Given the description of an element on the screen output the (x, y) to click on. 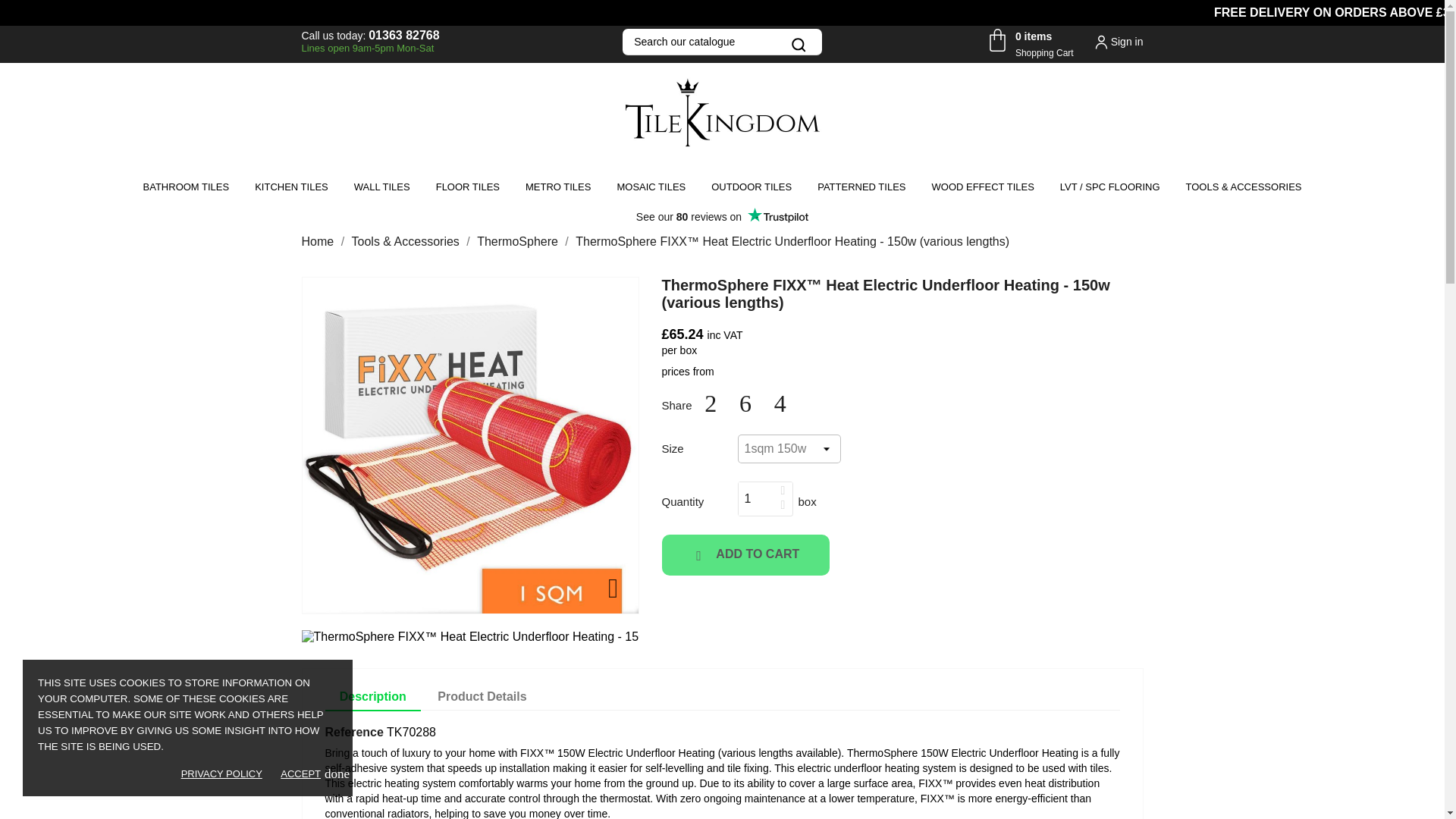
ThermoSphere (518, 241)
FLOOR TILES (467, 186)
Sign in (1117, 40)
BATHROOM TILES (187, 186)
WOOD EFFECT TILES (982, 186)
Log in to your customer account (1117, 40)
WALL TILES (381, 186)
1 (756, 498)
OUTDOOR TILES (751, 186)
METRO TILES (1028, 43)
01363 82768 (558, 186)
PATTERNED TILES (403, 34)
Home (861, 186)
Tweet (319, 241)
